Given the description of an element on the screen output the (x, y) to click on. 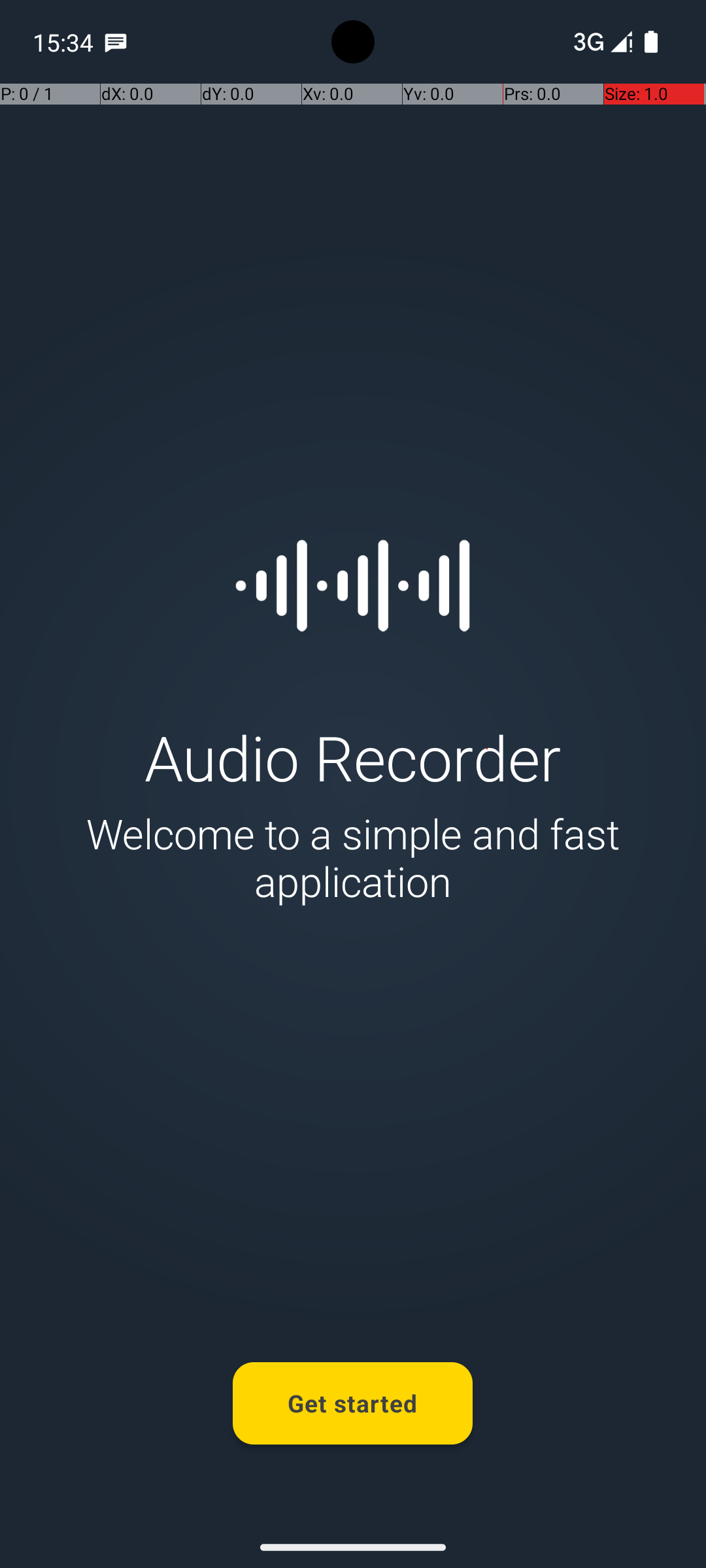
Get started Element type: android.widget.Button (352, 1403)
Audio Recorder Element type: android.widget.TextView (352, 756)
Welcome to a simple and fast application Element type: android.widget.TextView (352, 856)
